Given the description of an element on the screen output the (x, y) to click on. 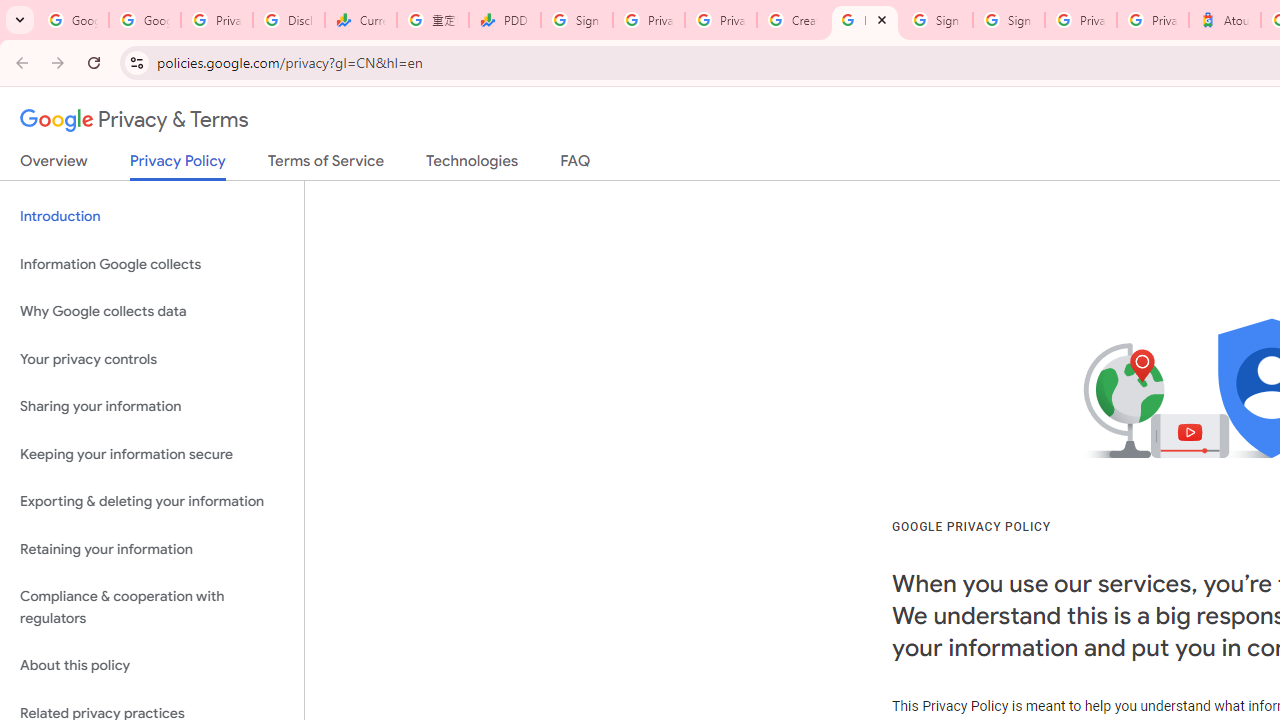
Sign in - Google Accounts (936, 20)
Privacy Checkup (720, 20)
